Given the description of an element on the screen output the (x, y) to click on. 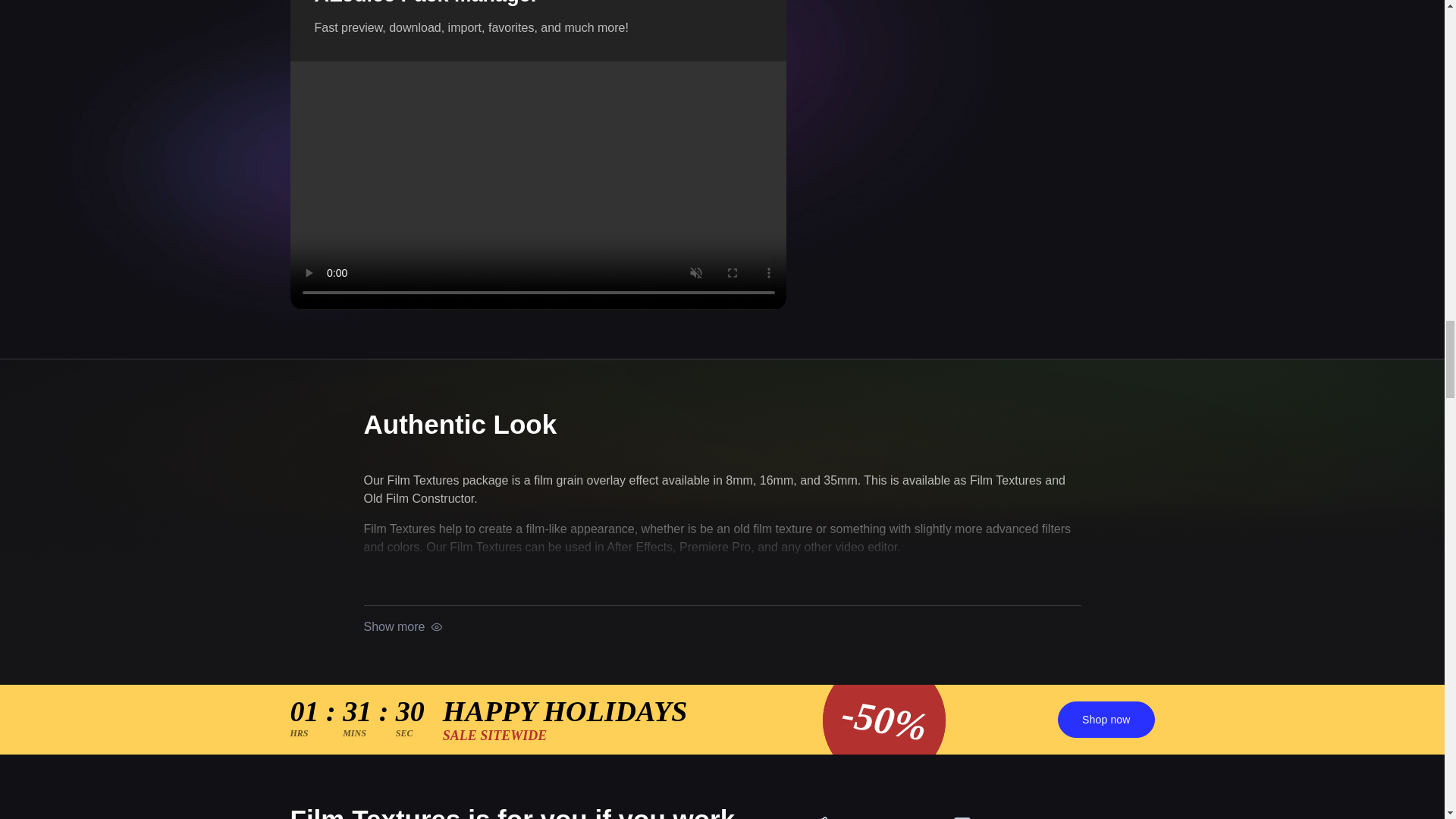
Shop now (1106, 719)
Show more (404, 627)
